Given the description of an element on the screen output the (x, y) to click on. 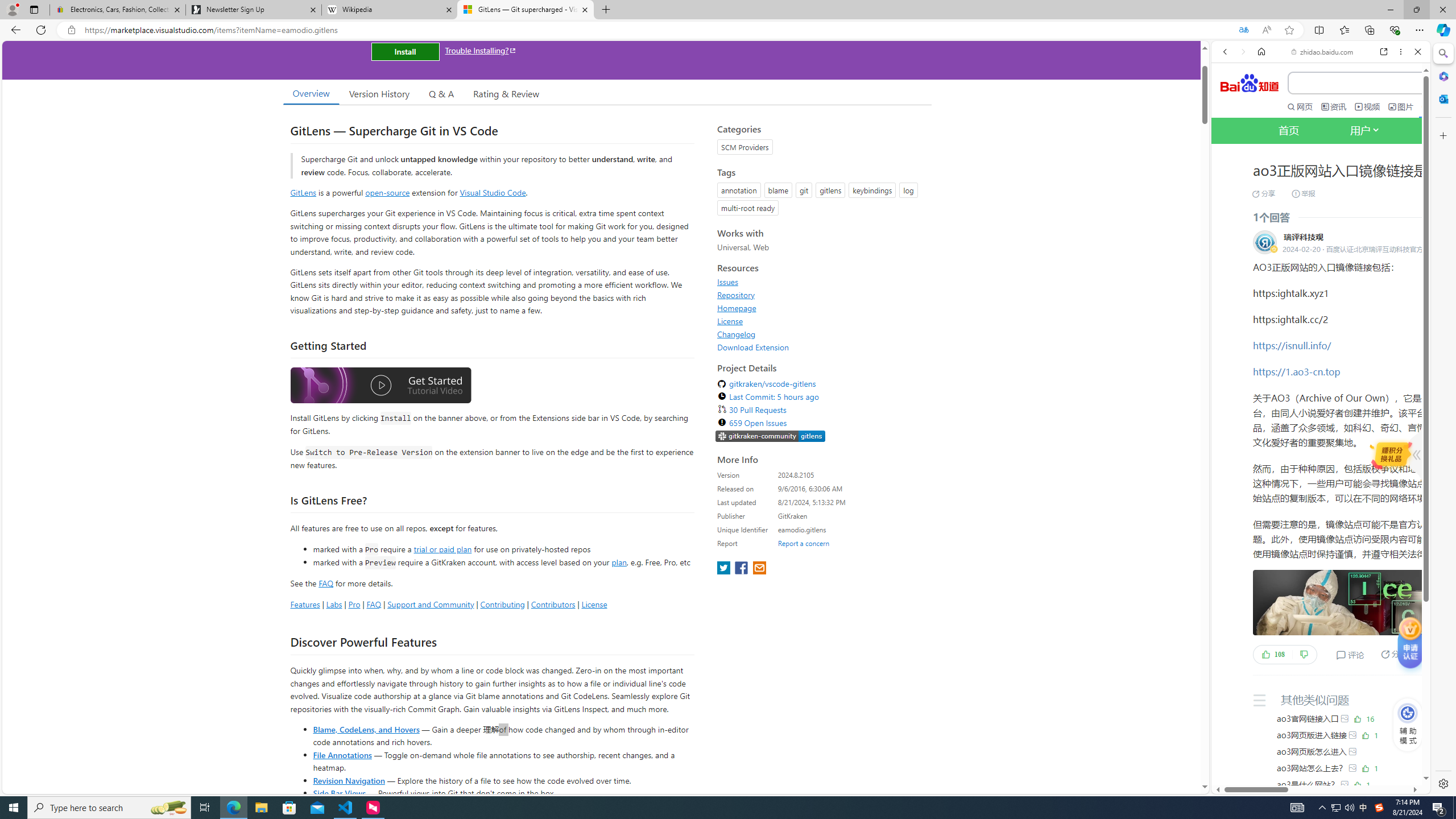
Report a concern (803, 542)
Newsletter Sign Up (253, 9)
Download Extension (820, 346)
Electronics, Cars, Fashion, Collectibles & More | eBay (117, 9)
OFTV - Enjoy videos from your favorite OF creators! (1315, 753)
English (US) (1320, 329)
Settings (1442, 783)
To get missing image descriptions, open the context menu. (1407, 712)
Translated (1243, 29)
Issues (727, 281)
OF | English meaning - Cambridge Dictionary (1315, 238)
Search Filter, Search Tools (1350, 192)
